Given the description of an element on the screen output the (x, y) to click on. 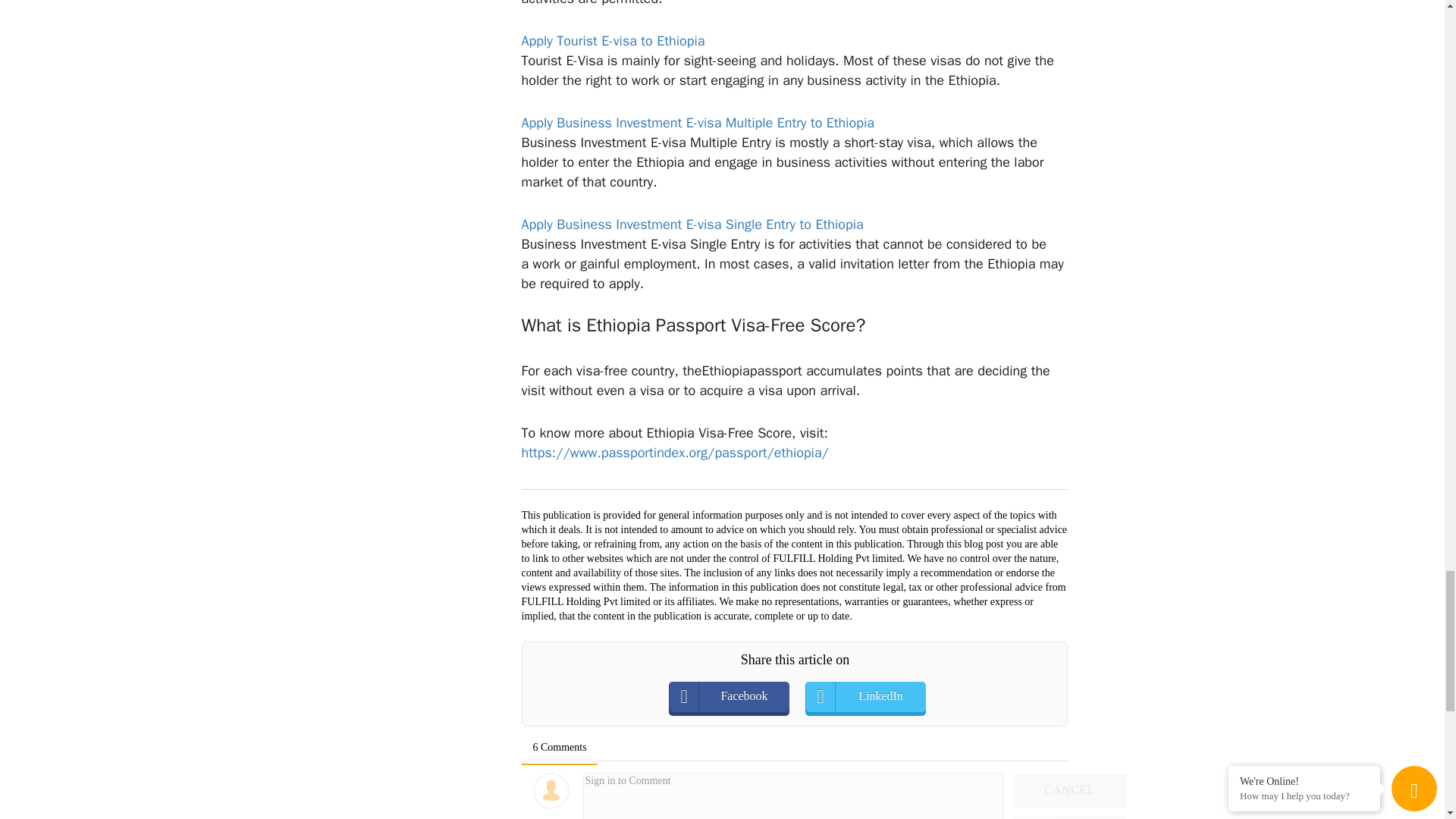
Apply Business Investment E-visa Single Entry to Ethiopia (692, 224)
Facebook (743, 696)
LinkedIn (880, 696)
Apply Business Investment E-visa Multiple Entry to Ethiopia (698, 122)
Apply Tourist E-visa to Ethiopia (612, 40)
